Given the description of an element on the screen output the (x, y) to click on. 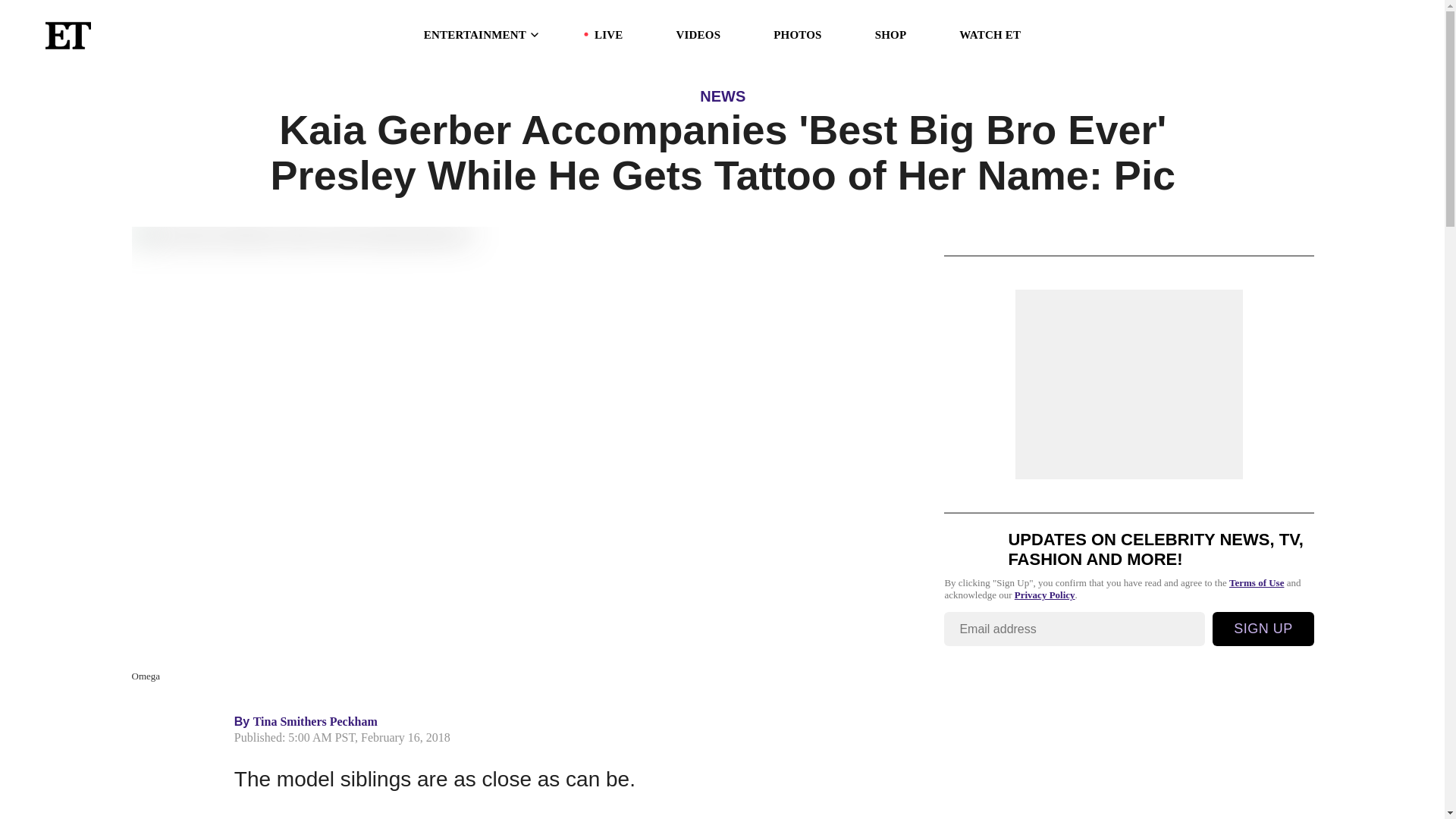
Tina Smithers Peckham (315, 721)
VIDEOS (697, 34)
PHOTOS (797, 34)
ENTERTAINMENT (482, 34)
LIVE (608, 34)
Terms of Use (1256, 582)
SIGN UP (1263, 628)
SHOP (891, 34)
WATCH ET (989, 34)
Privacy Policy (1044, 594)
